Given the description of an element on the screen output the (x, y) to click on. 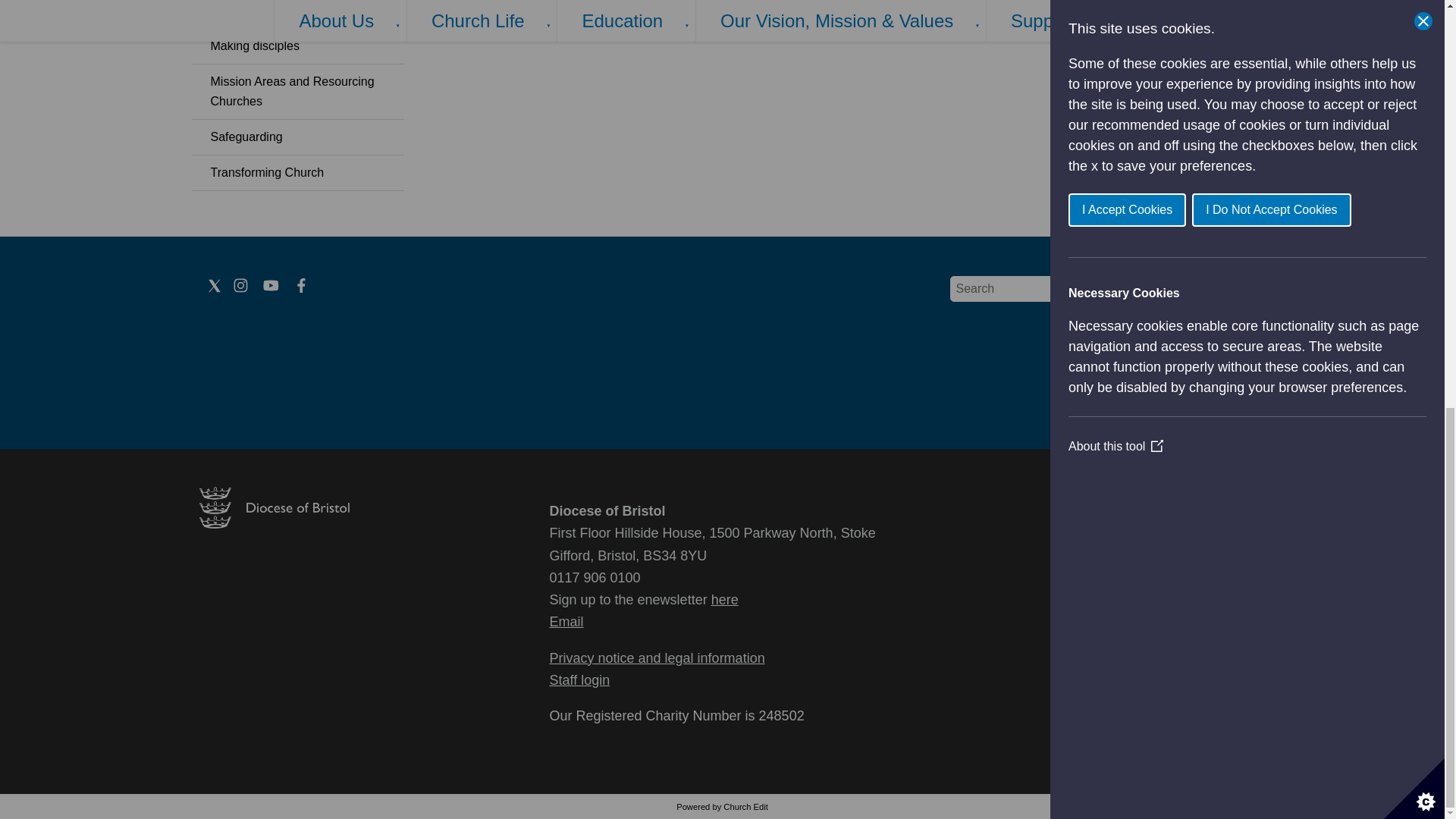
Diocese of Bristol Logo (273, 523)
